Given the description of an element on the screen output the (x, y) to click on. 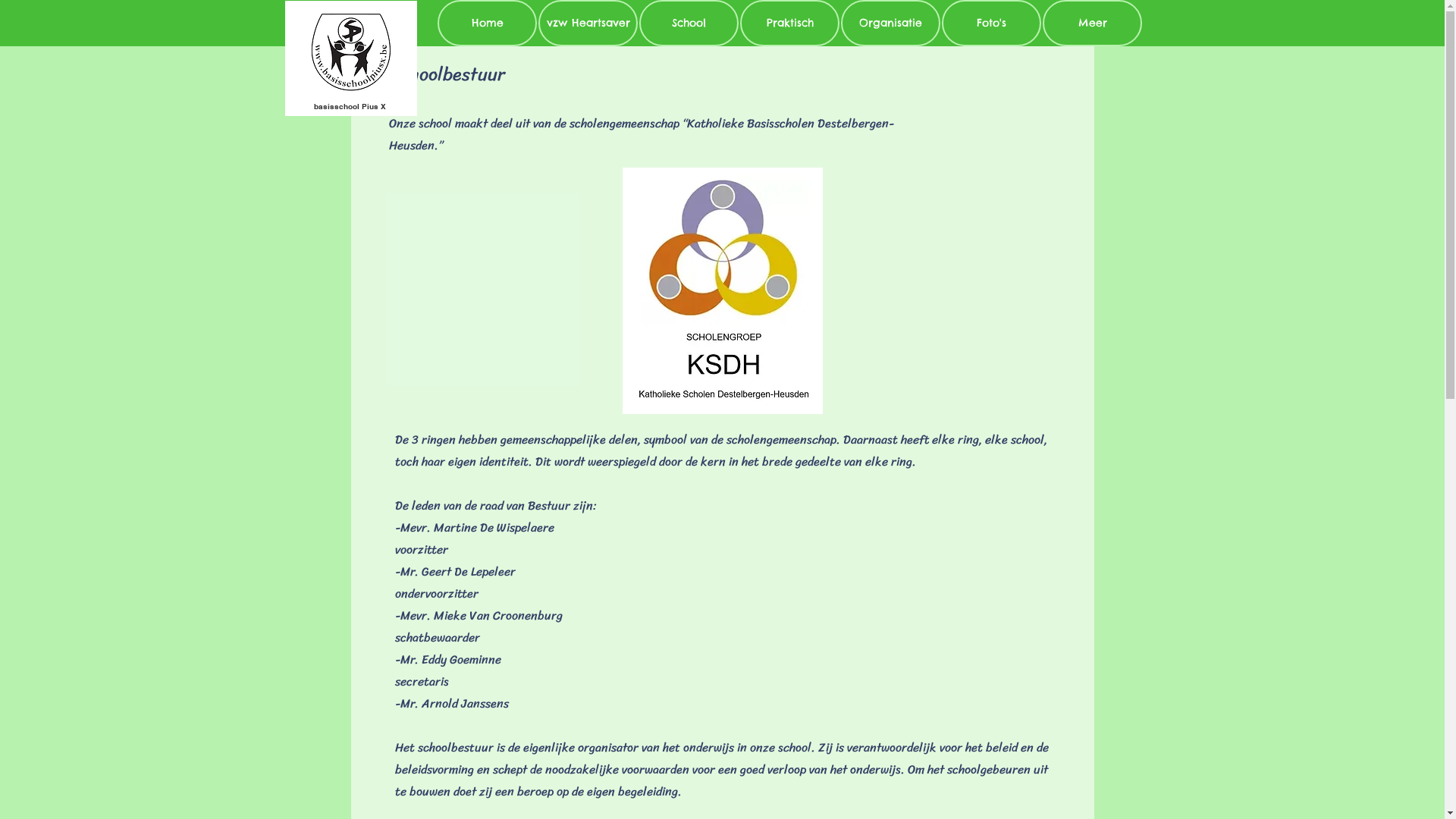
Home Element type: text (486, 23)
vzw Heartsaver Element type: text (587, 23)
Foto's Element type: text (991, 23)
